Given the description of an element on the screen output the (x, y) to click on. 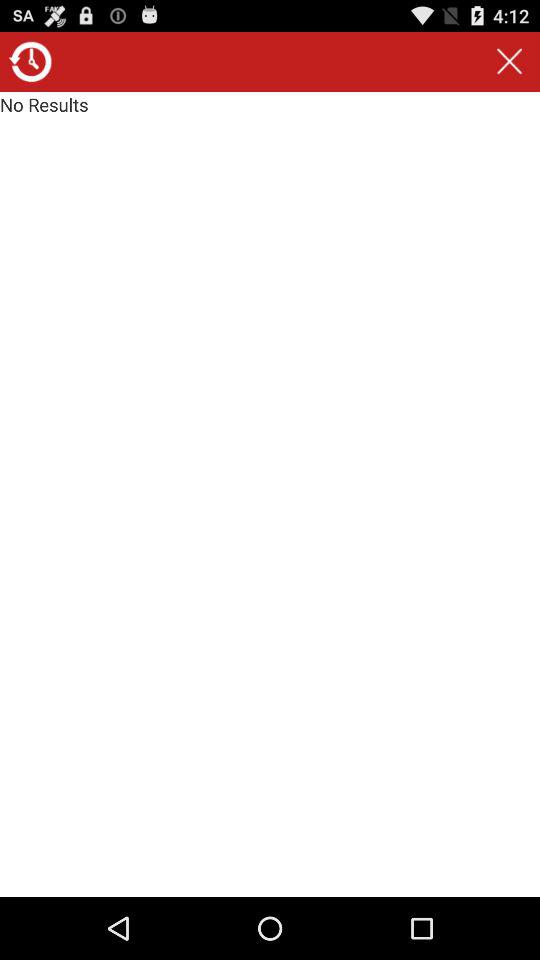
turn on item to the right of no results icon (509, 61)
